Given the description of an element on the screen output the (x, y) to click on. 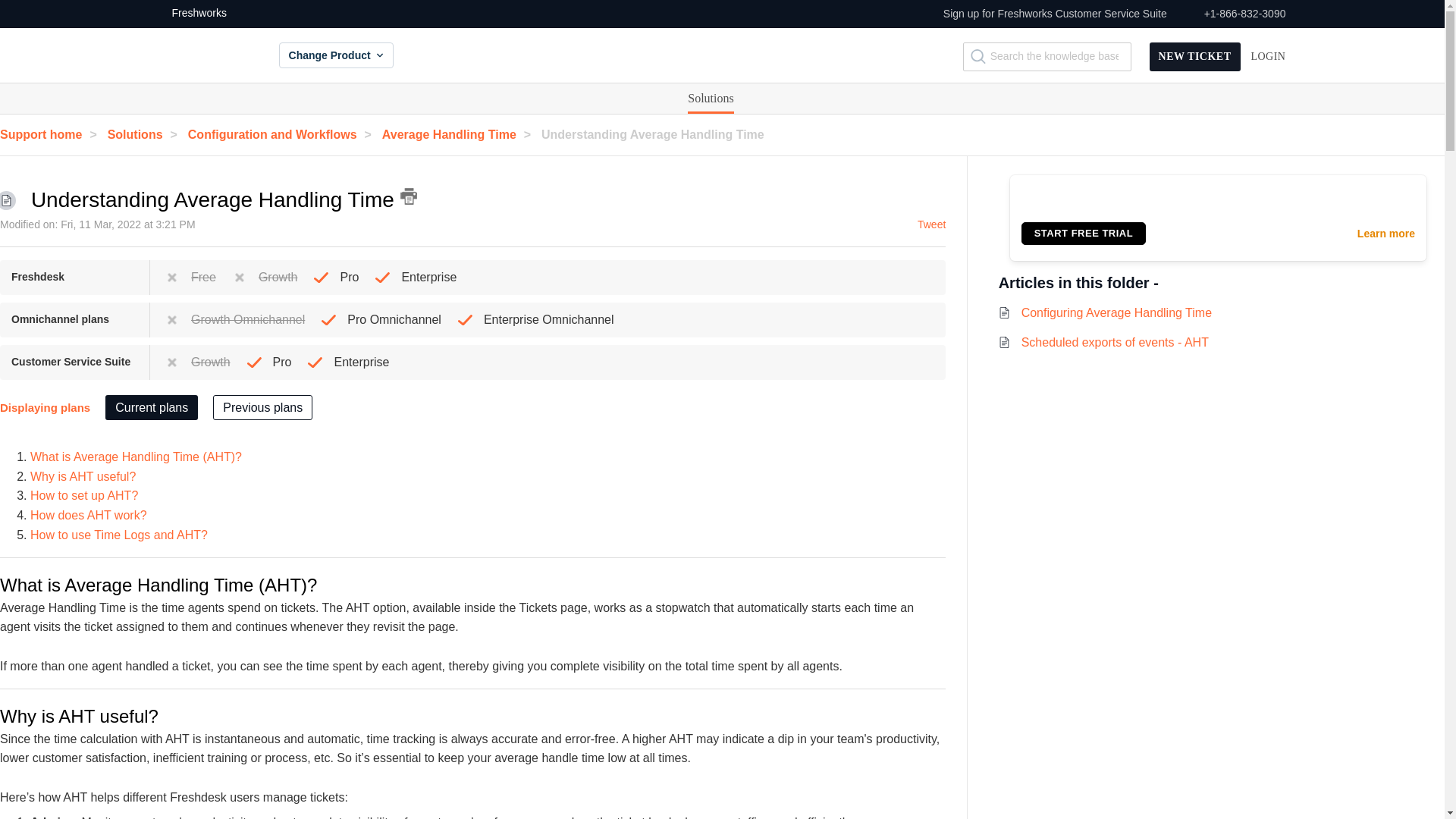
Scheduled exports of events - AHT (1115, 341)
Learn more (1385, 234)
Why is AHT useful? (82, 476)
START FREE TRIAL (1084, 232)
Solutions (710, 98)
Tweet (930, 224)
LOGIN (1267, 56)
Previous plans (262, 407)
Solutions (710, 98)
Solutions (710, 98)
Average Handling Time (459, 133)
Support home (52, 133)
How does AHT work? (88, 514)
Solutions (145, 133)
Freshworks (192, 13)
